Given the description of an element on the screen output the (x, y) to click on. 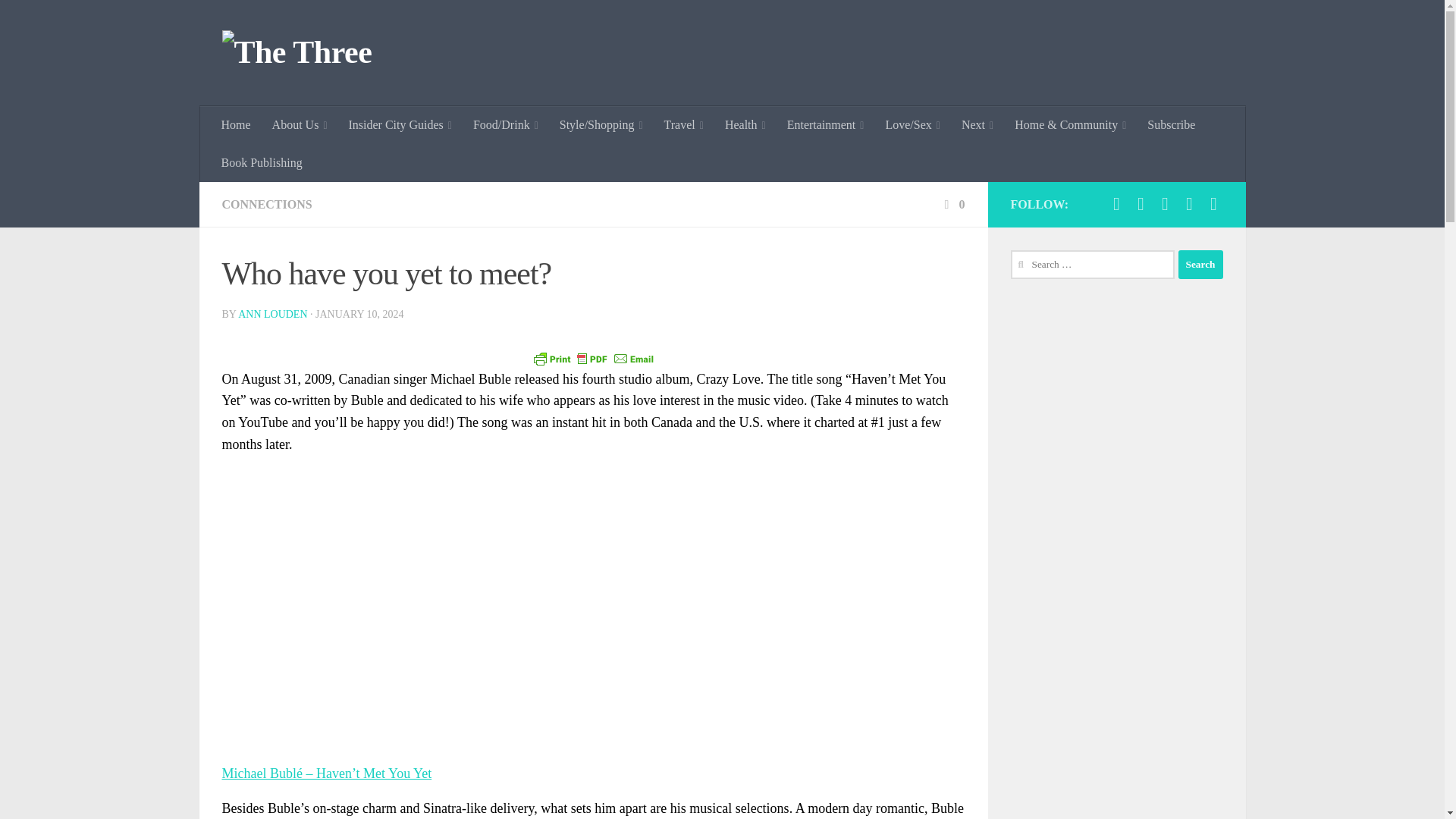
Follow us on Instagram (1115, 203)
Search (1200, 264)
Skip to content (59, 20)
Search (1200, 264)
